Given the description of an element on the screen output the (x, y) to click on. 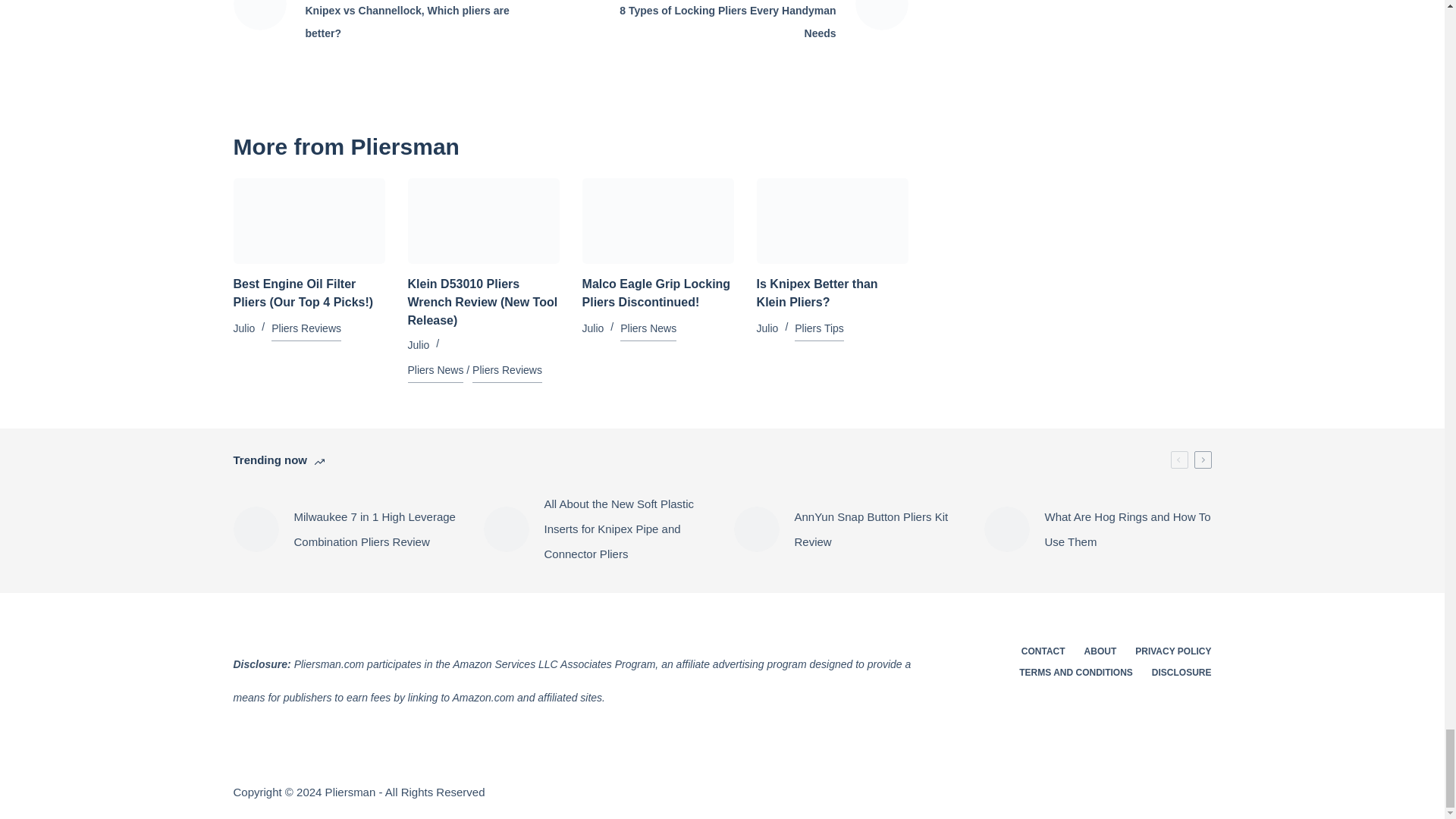
Posts by Julio (767, 328)
Posts by Julio (418, 345)
Posts by Julio (244, 328)
Posts by Julio (593, 328)
